Given the description of an element on the screen output the (x, y) to click on. 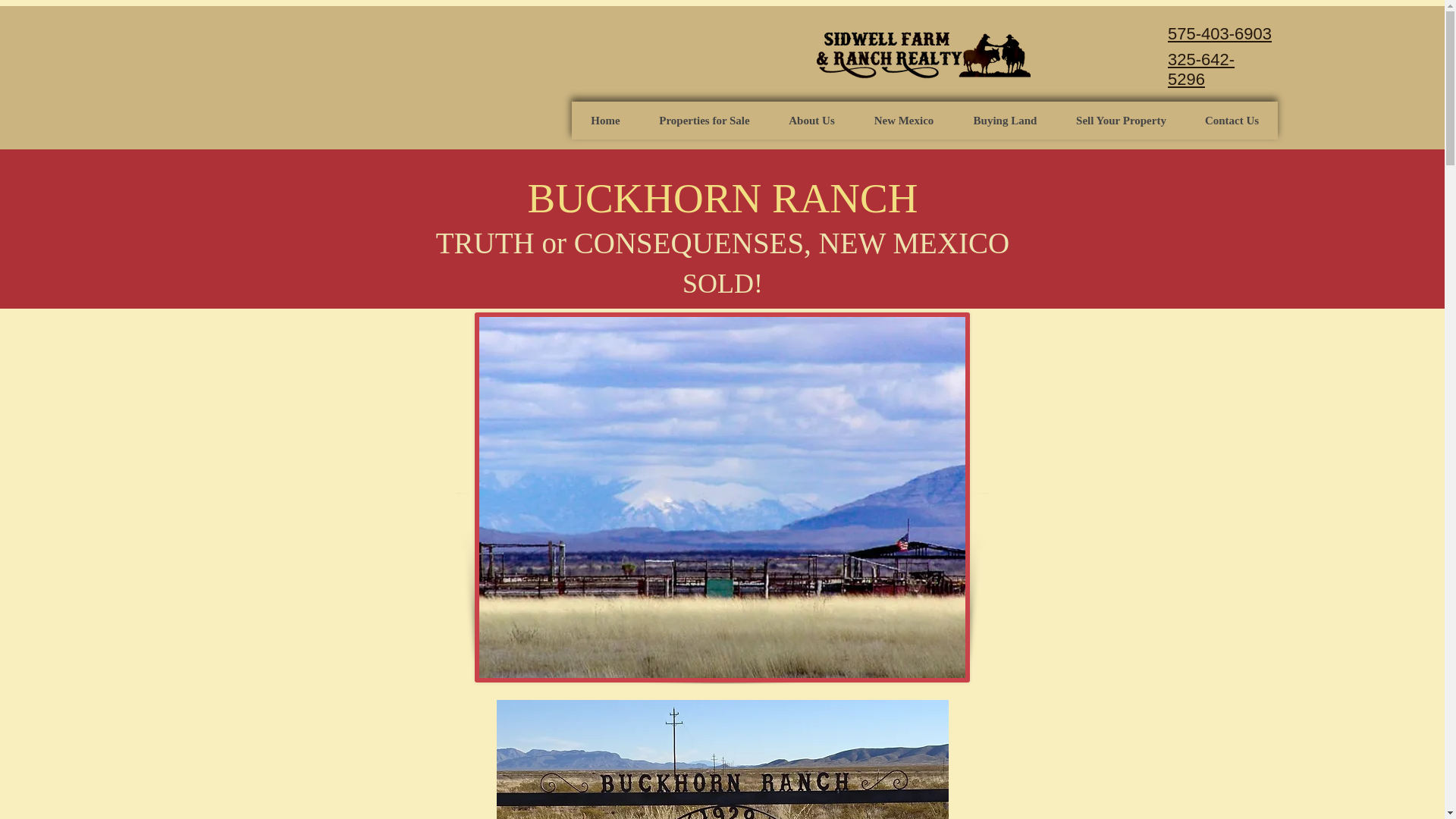
Buying Land (1005, 120)
Contact Us (1231, 120)
New Mexico (903, 120)
325-642-5296 (1200, 68)
Home (605, 120)
575-403-6903 (1219, 33)
Sell Your Property (1121, 120)
Properties for Sale (703, 120)
